Given the description of an element on the screen output the (x, y) to click on. 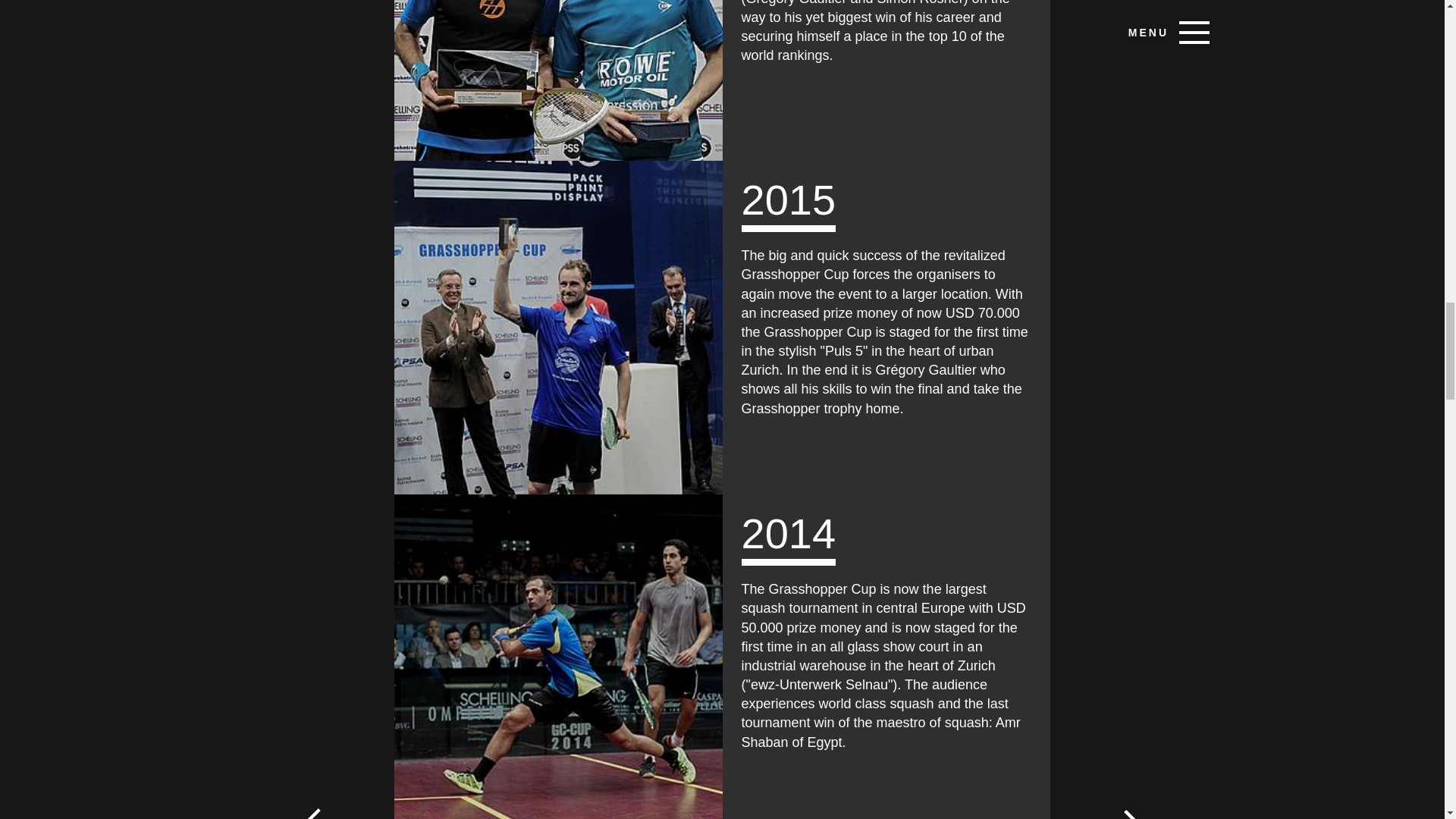
Previous (322, 809)
Next (1122, 809)
2014 (558, 656)
2016 (558, 80)
2015 (558, 327)
